Given the description of an element on the screen output the (x, y) to click on. 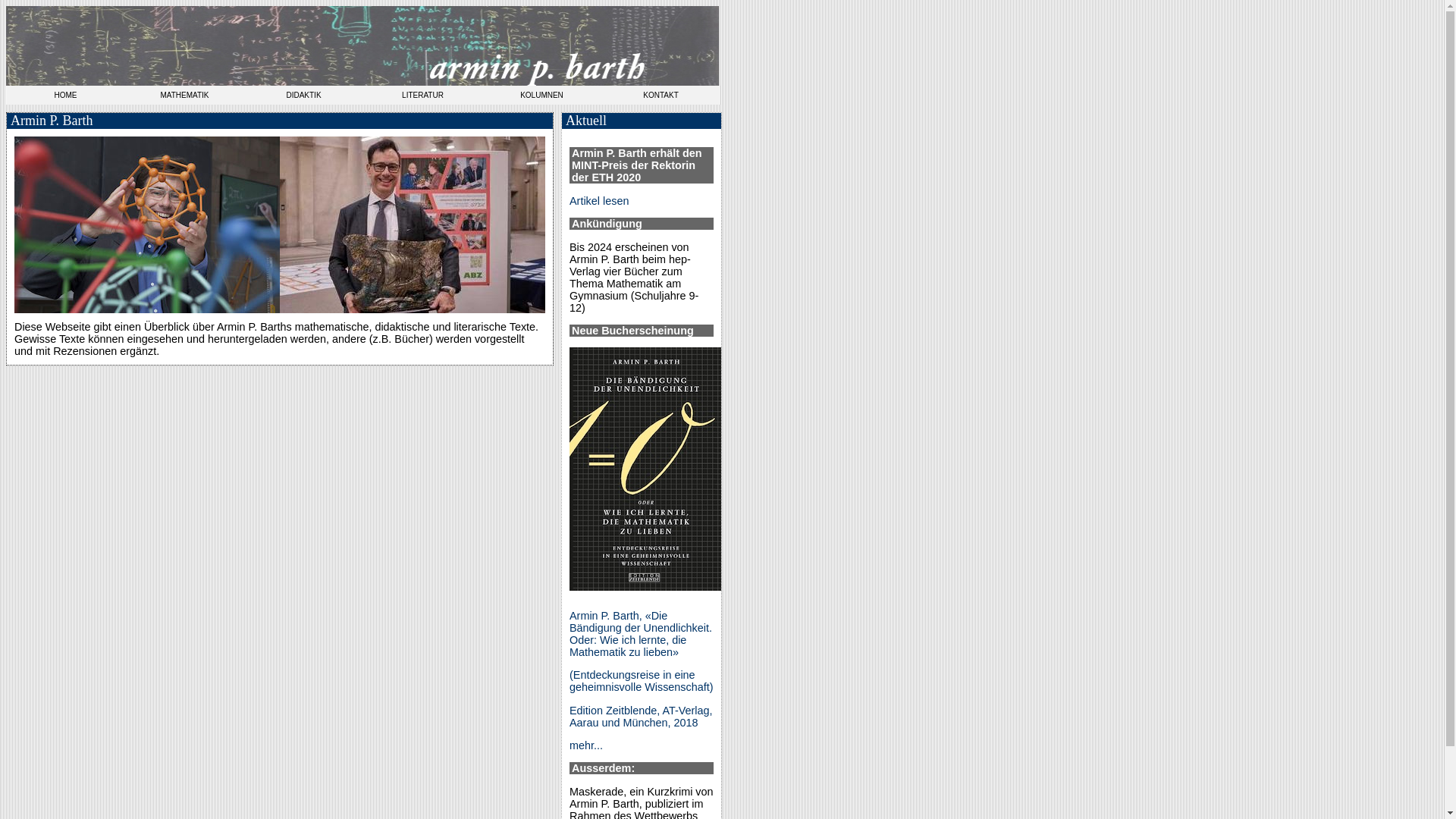
mehr... Element type: text (585, 745)
DIDAKTIK Element type: text (303, 94)
KOLUMNEN Element type: text (541, 94)
HOME Element type: text (65, 94)
KONTAKT Element type: text (660, 94)
LITERATUR Element type: text (422, 94)
MATHEMATIK Element type: text (184, 94)
Artikel lesen Element type: text (598, 200)
